Given the description of an element on the screen output the (x, y) to click on. 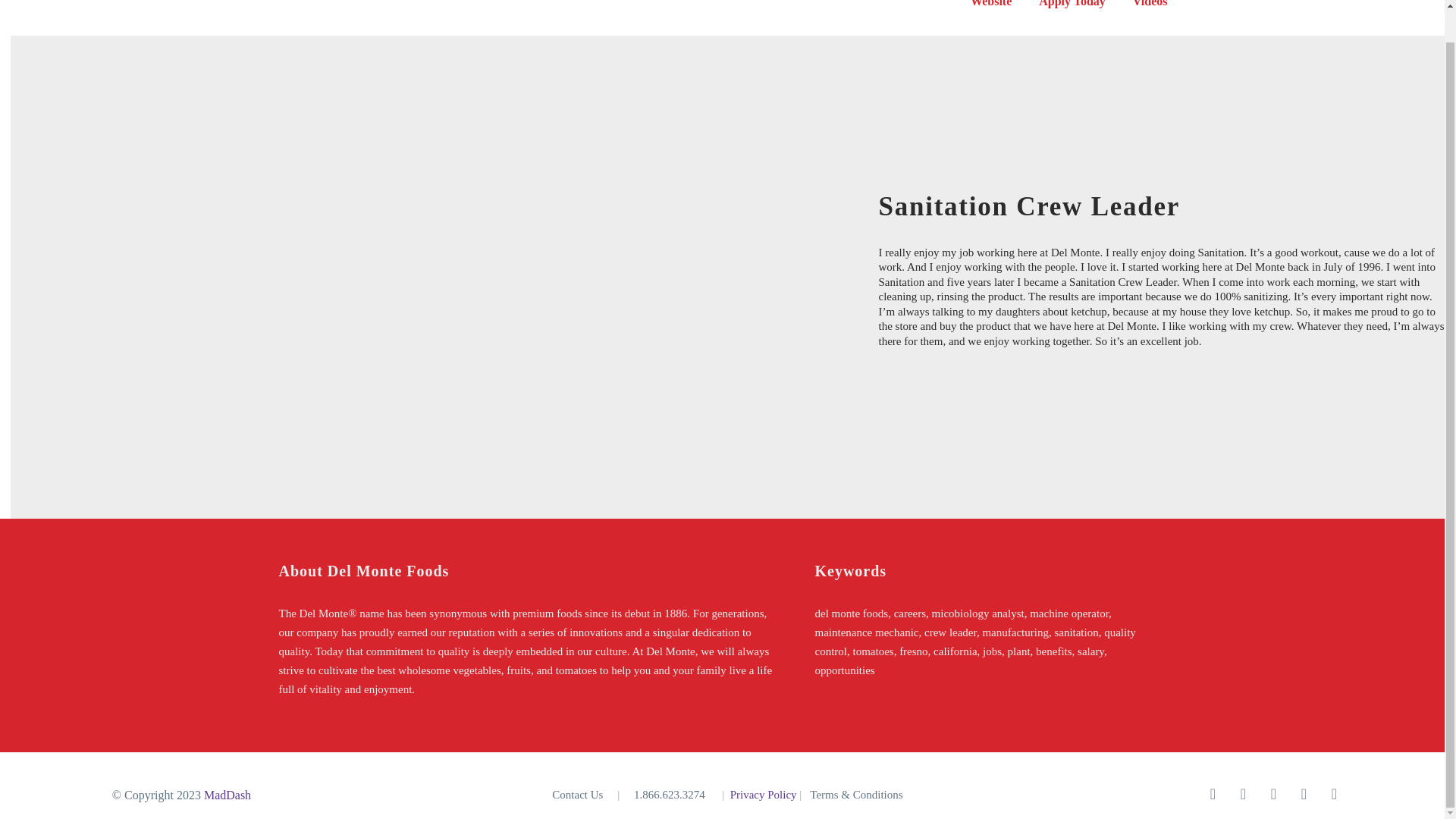
Privacy Policy (763, 794)
Contact Us (576, 794)
MadDash (226, 794)
Videos (1149, 6)
Apply Today (1071, 5)
1.866.623.3274 (668, 794)
Website (991, 5)
